Given the description of an element on the screen output the (x, y) to click on. 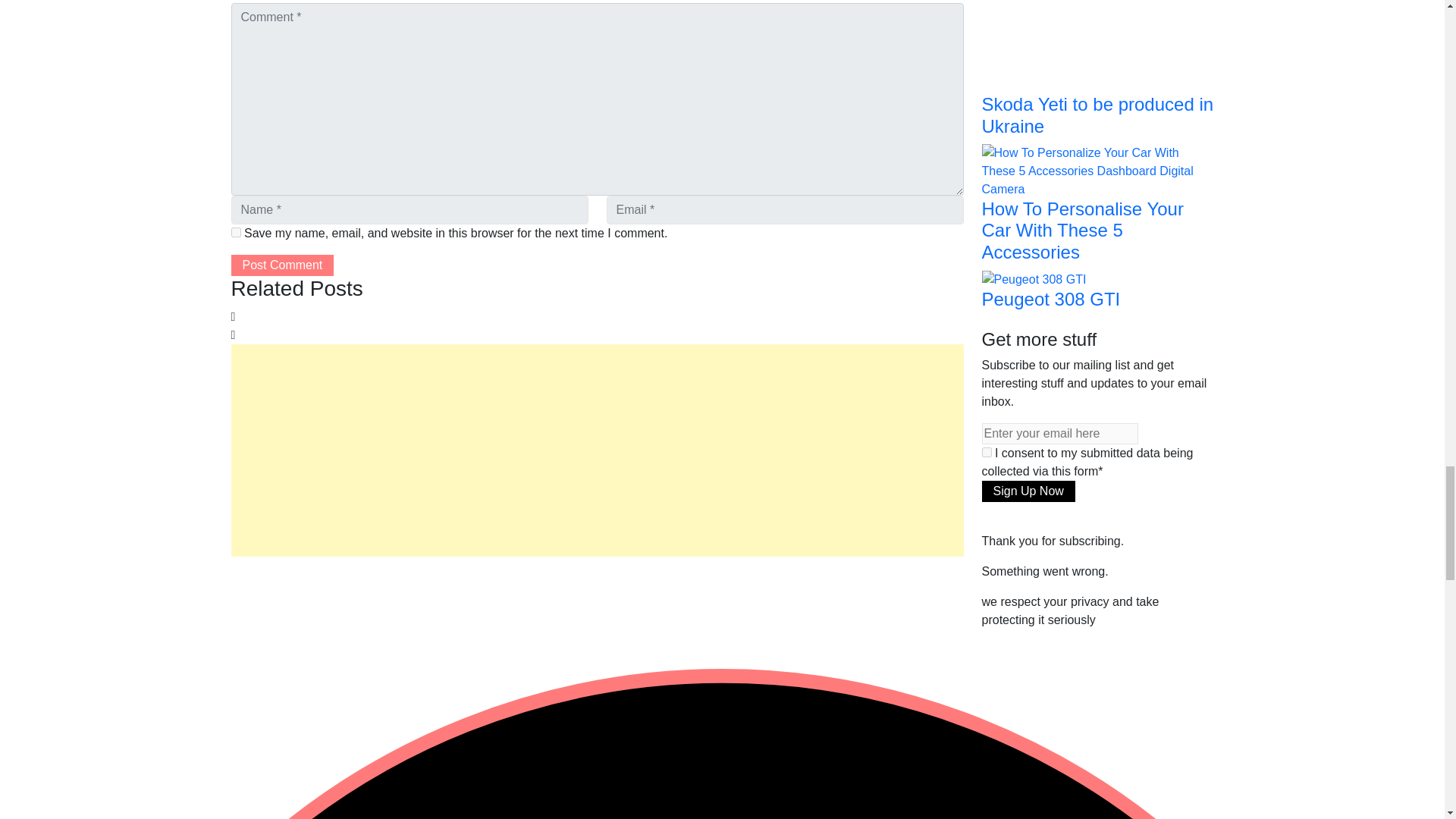
Peugeot 308 GTI (1033, 278)
Skoda Yeti to be produced in Ukraine (1056, 16)
on (986, 452)
Sign Up Now (1027, 491)
Post Comment (281, 265)
yes (235, 232)
How To Personalise Your Car With These 5 Accessories (1096, 169)
